Given the description of an element on the screen output the (x, y) to click on. 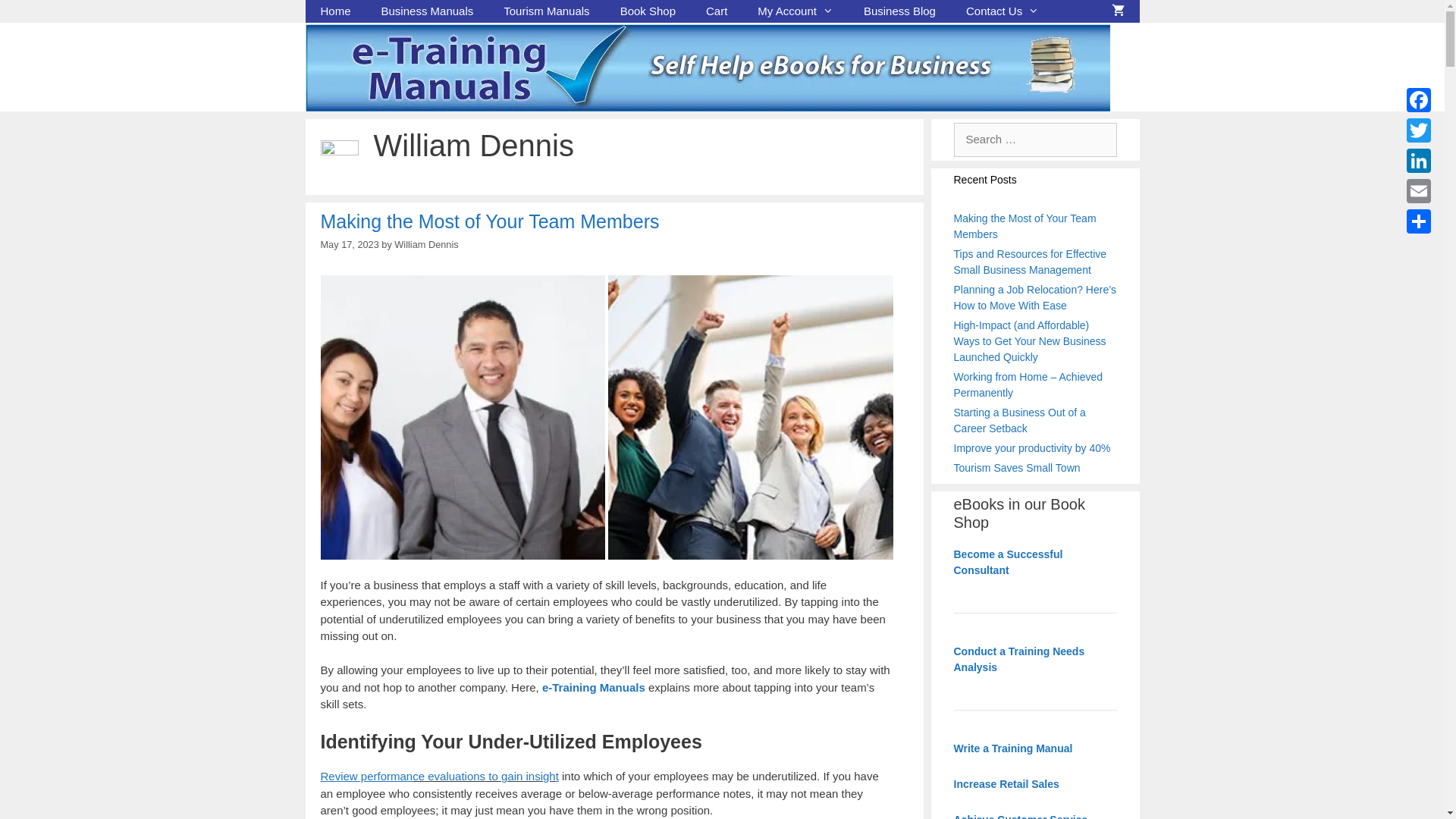
e-Training Manuals Element type: text (593, 686)
Conduct a Training Needs Analysis Element type: text (1019, 658)
Making the Most of Your Team Members Element type: text (1024, 226)
Search for: Element type: hover (1035, 139)
Write a Training Manual Element type: text (1013, 747)
Business Blog Element type: text (899, 11)
Business Manuals Element type: text (427, 11)
LinkedIn Element type: text (1418, 160)
Tourism Manuals Element type: text (546, 11)
t Element type: text (556, 775)
Home Element type: text (334, 11)
Improve your productivity by 40% Element type: text (1031, 447)
My Account Element type: text (795, 11)
Tips and Resources for Effective Small Business Management Element type: text (1030, 261)
Increase Retail Sales Element type: text (1006, 784)
Review performan Element type: text (366, 775)
Search Element type: text (34, 17)
Email Element type: text (1418, 190)
Book Shop Element type: text (647, 11)
Contact Us Element type: text (1002, 11)
Cart Element type: text (716, 11)
Share Element type: text (1418, 221)
William Dennis Element type: text (426, 244)
Become a Successful Consultant Element type: text (1008, 561)
Twitter Element type: text (1418, 130)
ce evaluations to gain insigh Element type: text (483, 775)
Tourism Saves Small Town Element type: text (1016, 467)
Making the Most of Your Team Members Element type: text (489, 221)
Starting a Business Out of a Career Setback Element type: text (1019, 420)
Facebook Element type: text (1418, 99)
View your shopping cart Element type: hover (1117, 11)
